Given the description of an element on the screen output the (x, y) to click on. 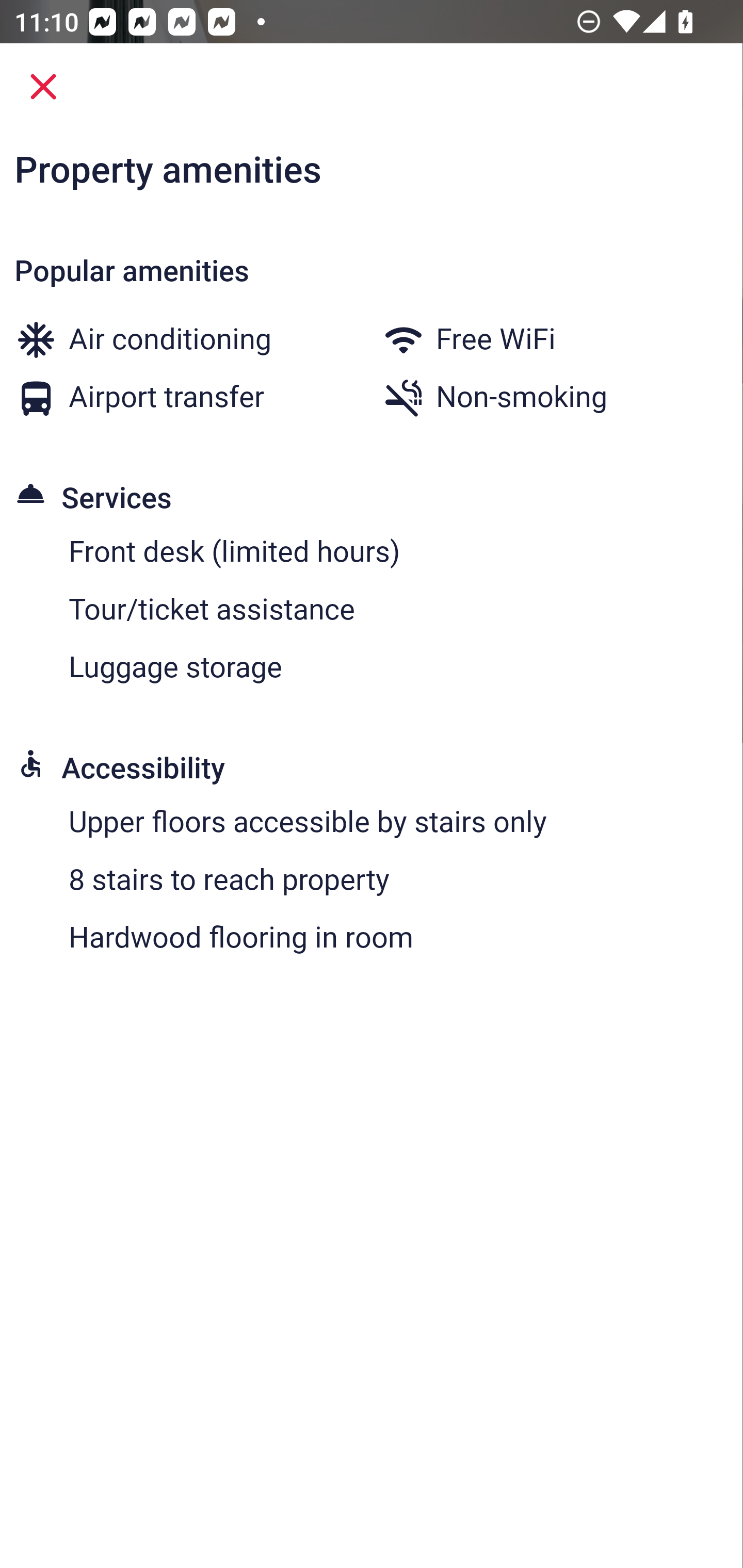
Close (43, 86)
